Given the description of an element on the screen output the (x, y) to click on. 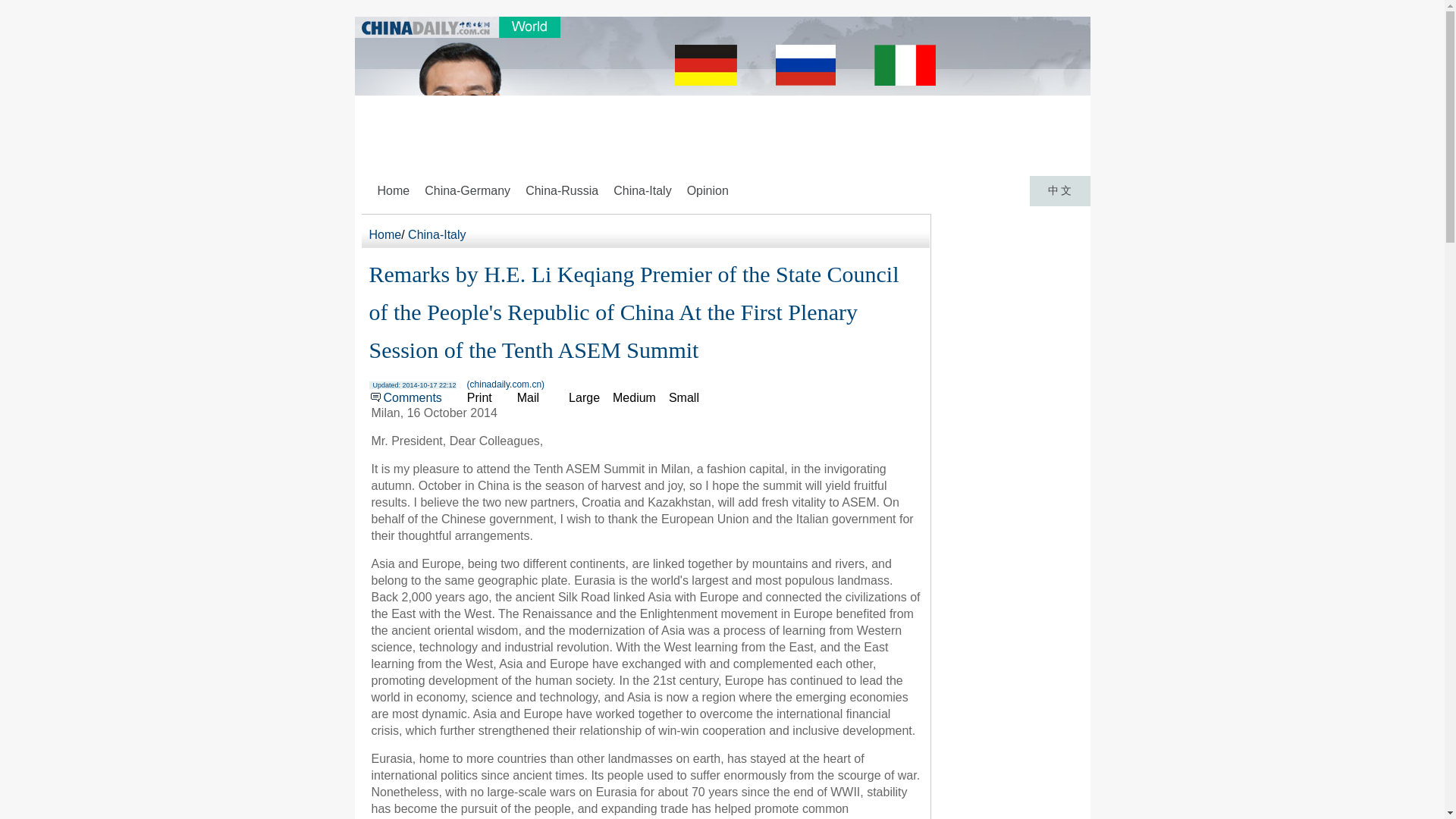
China-Russia (561, 190)
Print (473, 397)
Home (384, 234)
China-Italy (436, 234)
China-Germany (466, 190)
Medium (634, 397)
China-Italy (642, 190)
Large (584, 397)
Home (392, 190)
Opinion (707, 190)
